Given the description of an element on the screen output the (x, y) to click on. 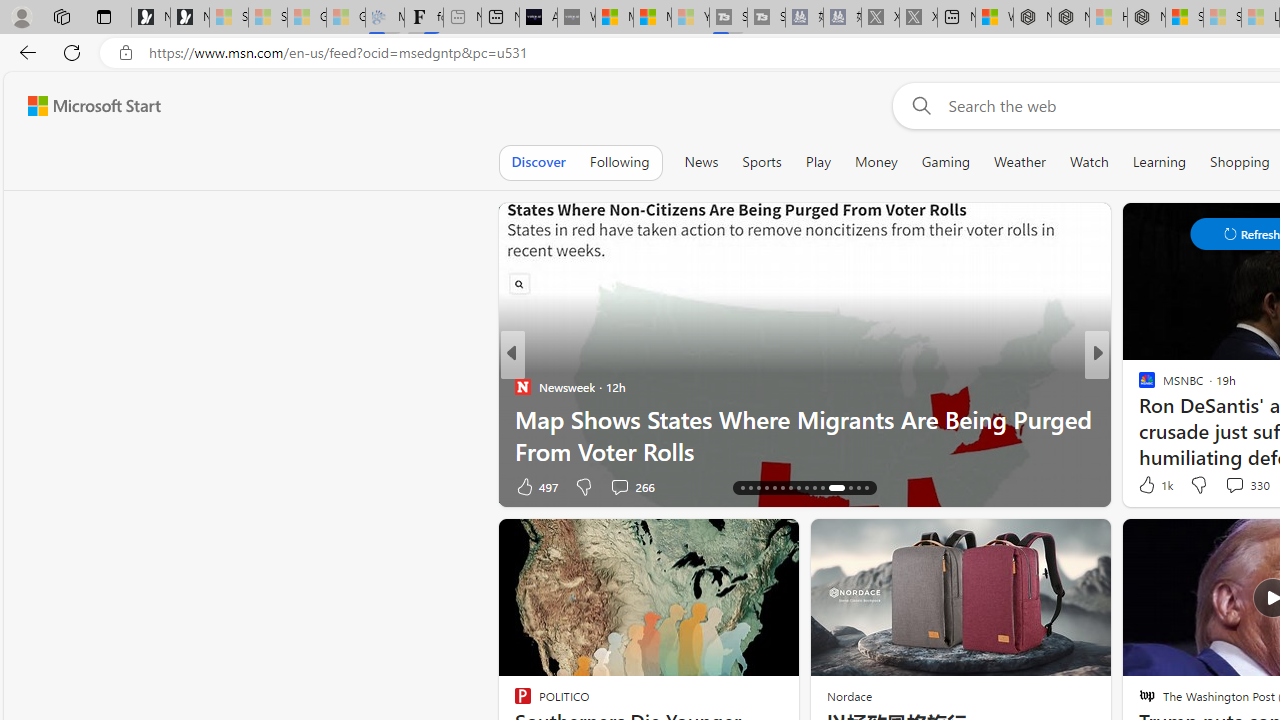
Money (876, 162)
AutomationID: tab-28 (846, 487)
Play (817, 161)
91 Like (532, 486)
Skip to footer (82, 105)
Nordace - Nordace Siena Is Not An Ordinary Backpack (1145, 17)
Dislike (1198, 484)
